Given the description of an element on the screen output the (x, y) to click on. 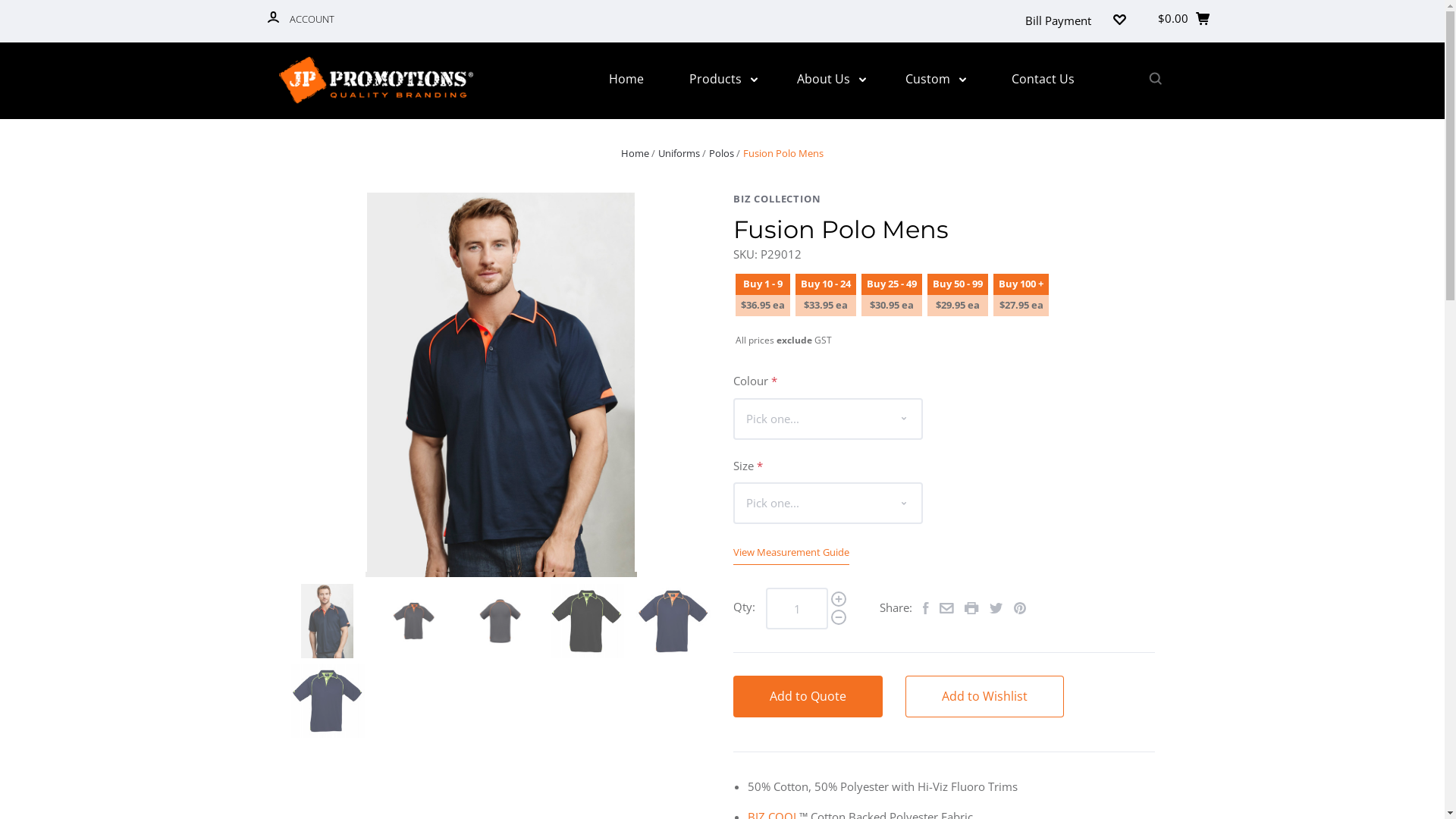
Home Element type: text (635, 153)
BIZ COLLECTION Element type: text (943, 198)
GREY/FLURO ORANGE Element type: hover (499, 620)
twitter Element type: text (996, 608)
Polos Element type: text (721, 153)
About Us dropdown_arrow Element type: text (831, 78)
Custom dropdown_arrow Element type: text (935, 78)
printer Element type: text (971, 609)
Fusion Polo Mens Element type: text (783, 153)
NAVY/FLUORO LIME Element type: hover (326, 700)
search_icon Element type: text (1154, 79)
Bill Payment Element type: text (1058, 21)
NAVY/FLUORO ORANGE Element type: hover (672, 620)
BLACK/FLUORO LIME Element type: hover (586, 620)
View Measurement Guide Element type: text (791, 552)
wishlist Element type: text (1119, 21)
Add to Quote Element type: text (807, 696)
Home Element type: text (625, 78)
$0.00 Element type: text (1185, 21)
Uniforms Element type: text (678, 153)
Contact Us Element type: text (1042, 78)
Fusion Polo Mens Element type: hover (326, 620)
Add to Wishlist Element type: text (984, 696)
ACCOUNT ACCOUNT Element type: text (299, 21)
pinterest Element type: text (1019, 609)
Products dropdown_arrow Element type: text (723, 78)
email Element type: text (946, 608)
GREY/FLURO ORANGE Element type: hover (413, 620)
facebook Element type: text (925, 609)
